Given the description of an element on the screen output the (x, y) to click on. 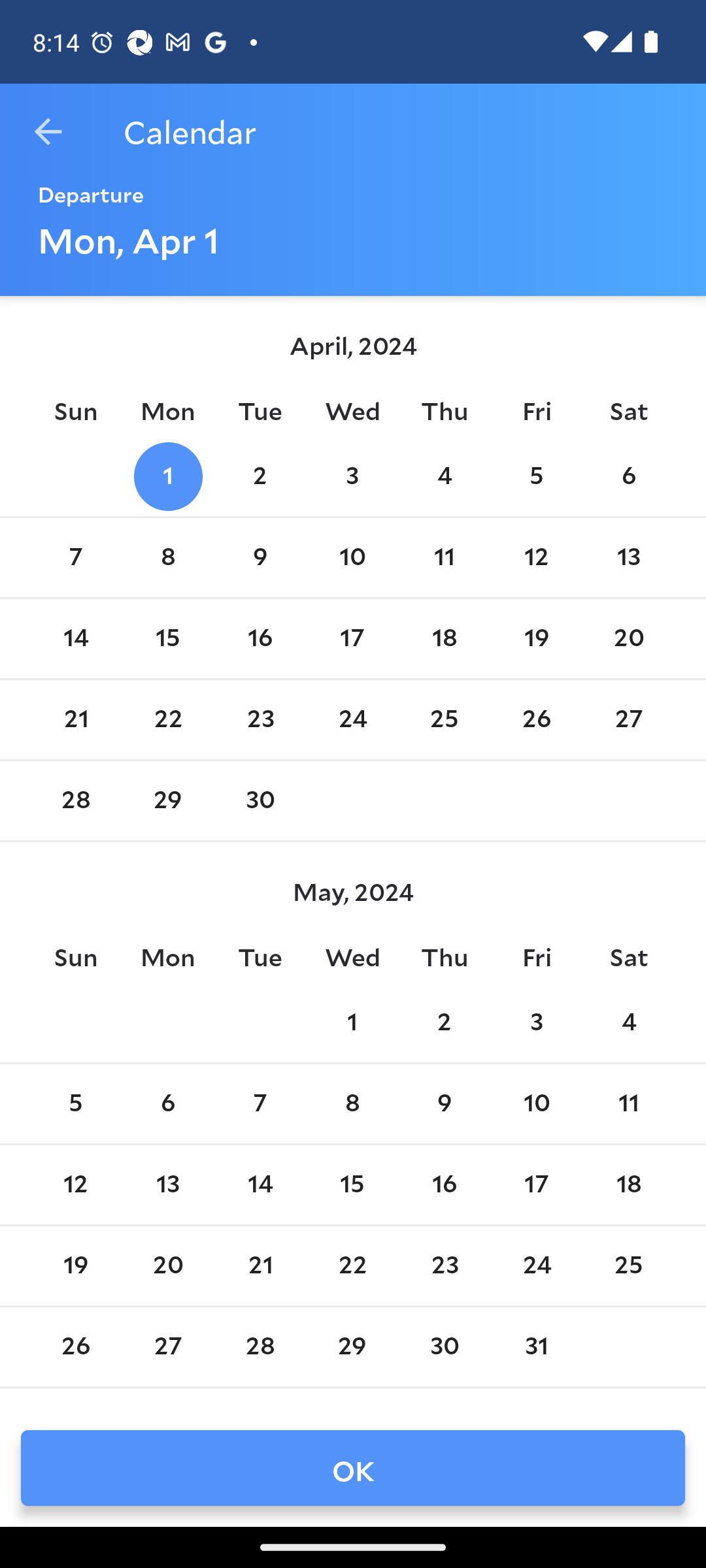
Navigate up (48, 131)
1 (168, 476)
2 (260, 476)
3 (352, 476)
4 (444, 476)
5 (536, 476)
6 (629, 476)
7 (75, 557)
8 (168, 557)
9 (260, 557)
10 (352, 557)
11 (444, 557)
12 (536, 557)
13 (629, 557)
14 (75, 637)
15 (168, 637)
16 (260, 637)
17 (352, 637)
18 (444, 637)
19 (536, 637)
20 (629, 637)
21 (75, 719)
22 (168, 719)
23 (260, 719)
24 (352, 719)
25 (444, 719)
26 (536, 719)
27 (629, 719)
28 (75, 800)
29 (168, 800)
30 (260, 800)
1 (352, 1021)
2 (444, 1021)
3 (536, 1021)
4 (629, 1021)
5 (75, 1103)
6 (168, 1103)
7 (260, 1103)
8 (352, 1103)
9 (444, 1103)
10 (536, 1103)
11 (629, 1103)
12 (75, 1184)
13 (168, 1184)
14 (260, 1184)
15 (352, 1184)
16 (444, 1184)
17 (536, 1184)
18 (629, 1184)
19 (75, 1264)
20 (168, 1264)
21 (260, 1264)
22 (352, 1264)
23 (444, 1264)
24 (536, 1264)
25 (629, 1264)
26 (75, 1346)
27 (168, 1346)
28 (260, 1346)
29 (352, 1346)
30 (444, 1346)
31 (536, 1346)
OK (352, 1467)
